Given the description of an element on the screen output the (x, y) to click on. 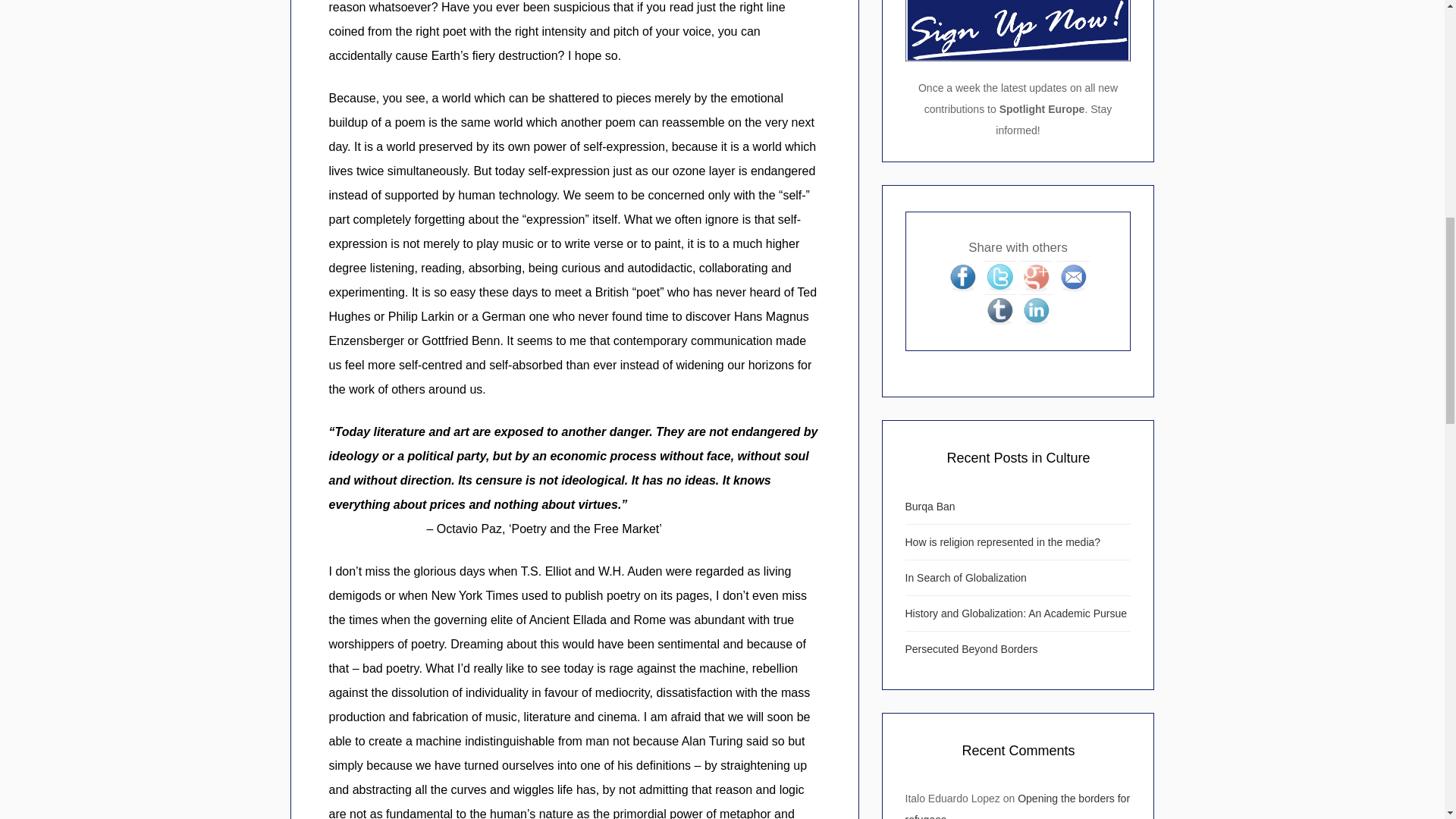
Share via Twitter (1000, 276)
Share via Google (1036, 276)
Share via Facebook (962, 276)
Share via Email (1073, 276)
